Given the description of an element on the screen output the (x, y) to click on. 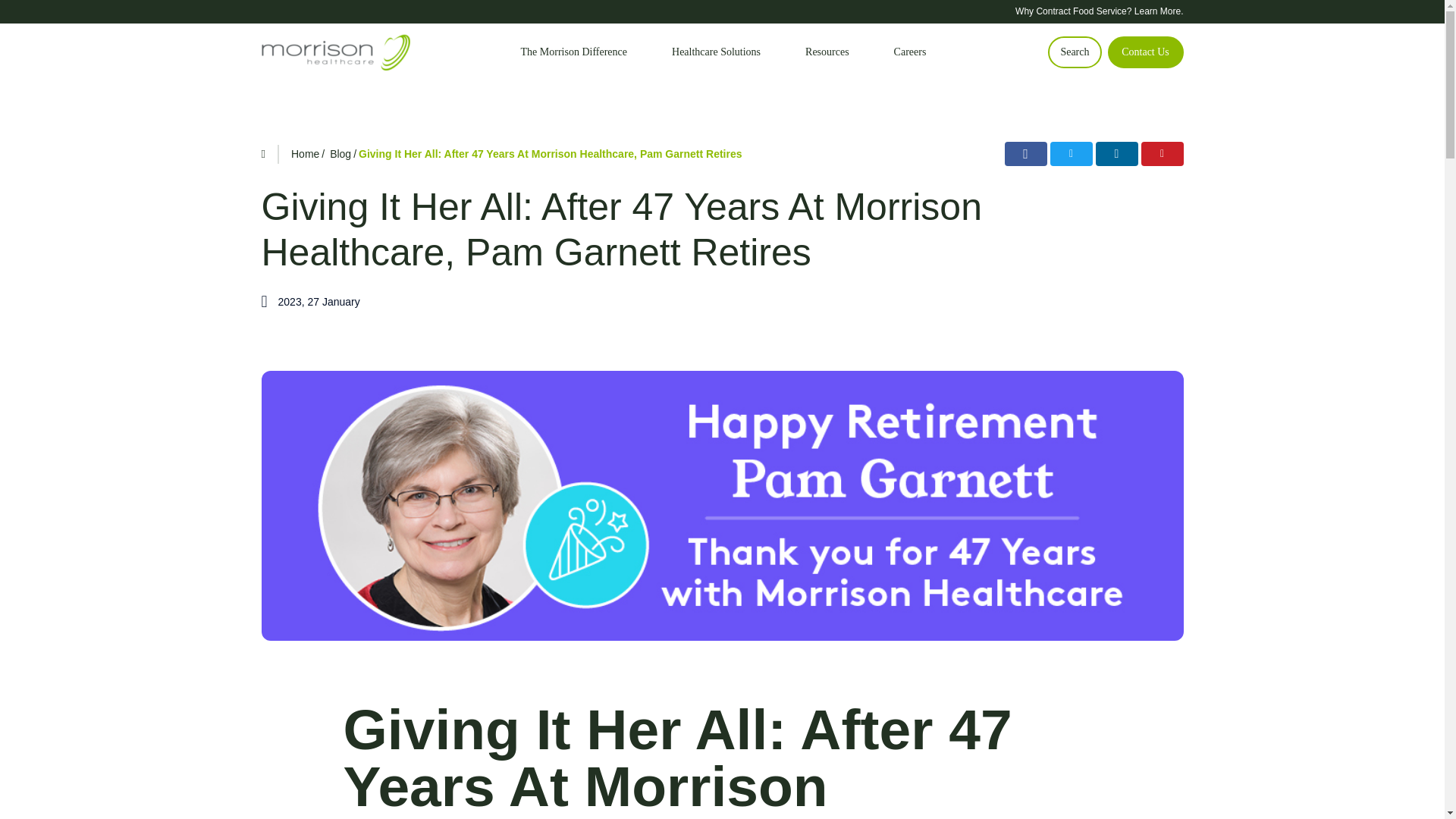
The Morrison Difference (574, 52)
Resources (827, 52)
Healthcare Solutions (716, 52)
Learn More. (1158, 10)
Careers (910, 52)
Home (304, 153)
Blog (340, 153)
Contact Us (1144, 51)
